Given the description of an element on the screen output the (x, y) to click on. 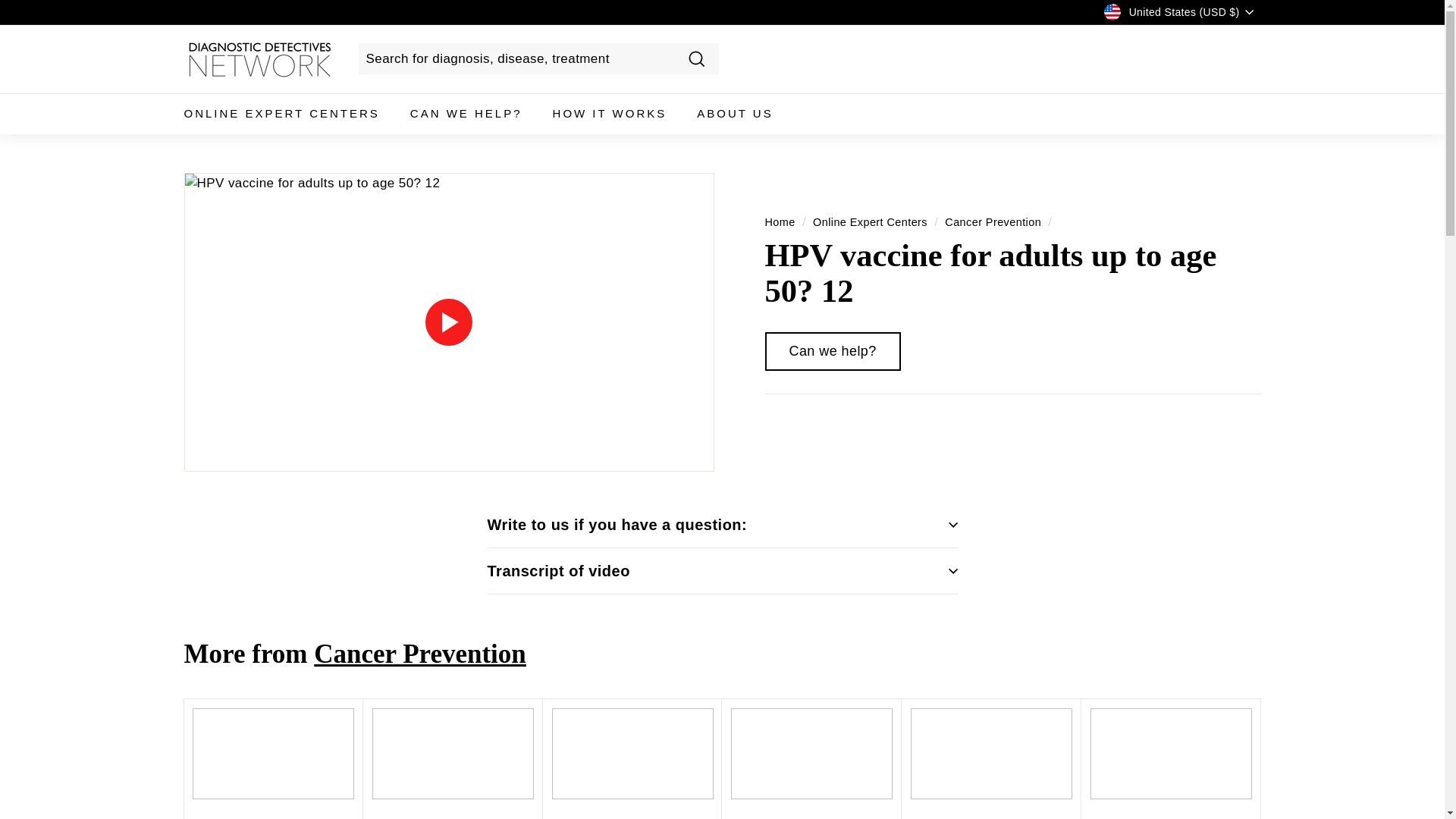
Back to the frontpage (779, 221)
ONLINE EXPERT CENTERS (281, 113)
